Given the description of an element on the screen output the (x, y) to click on. 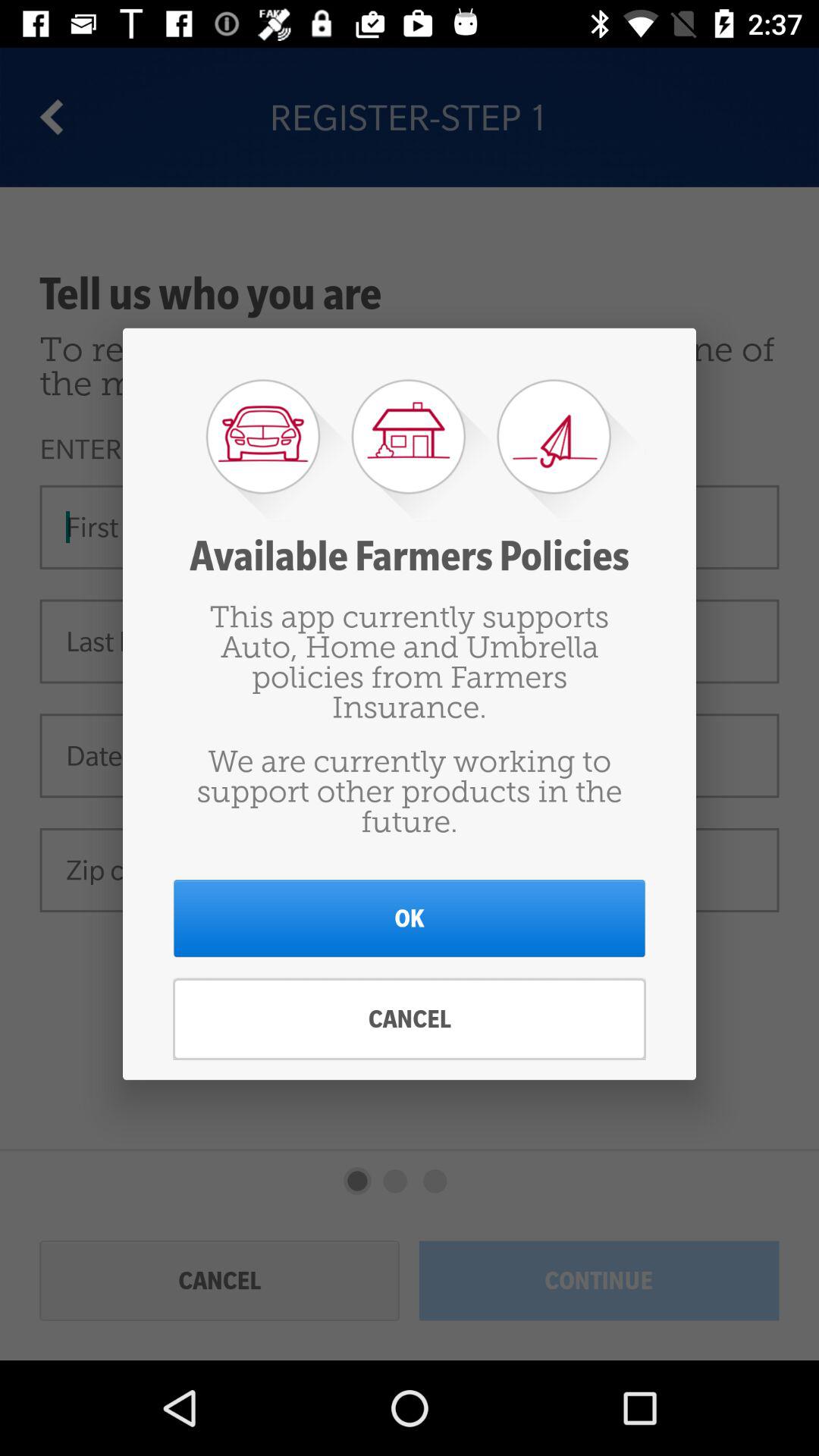
swipe until ok item (409, 918)
